Given the description of an element on the screen output the (x, y) to click on. 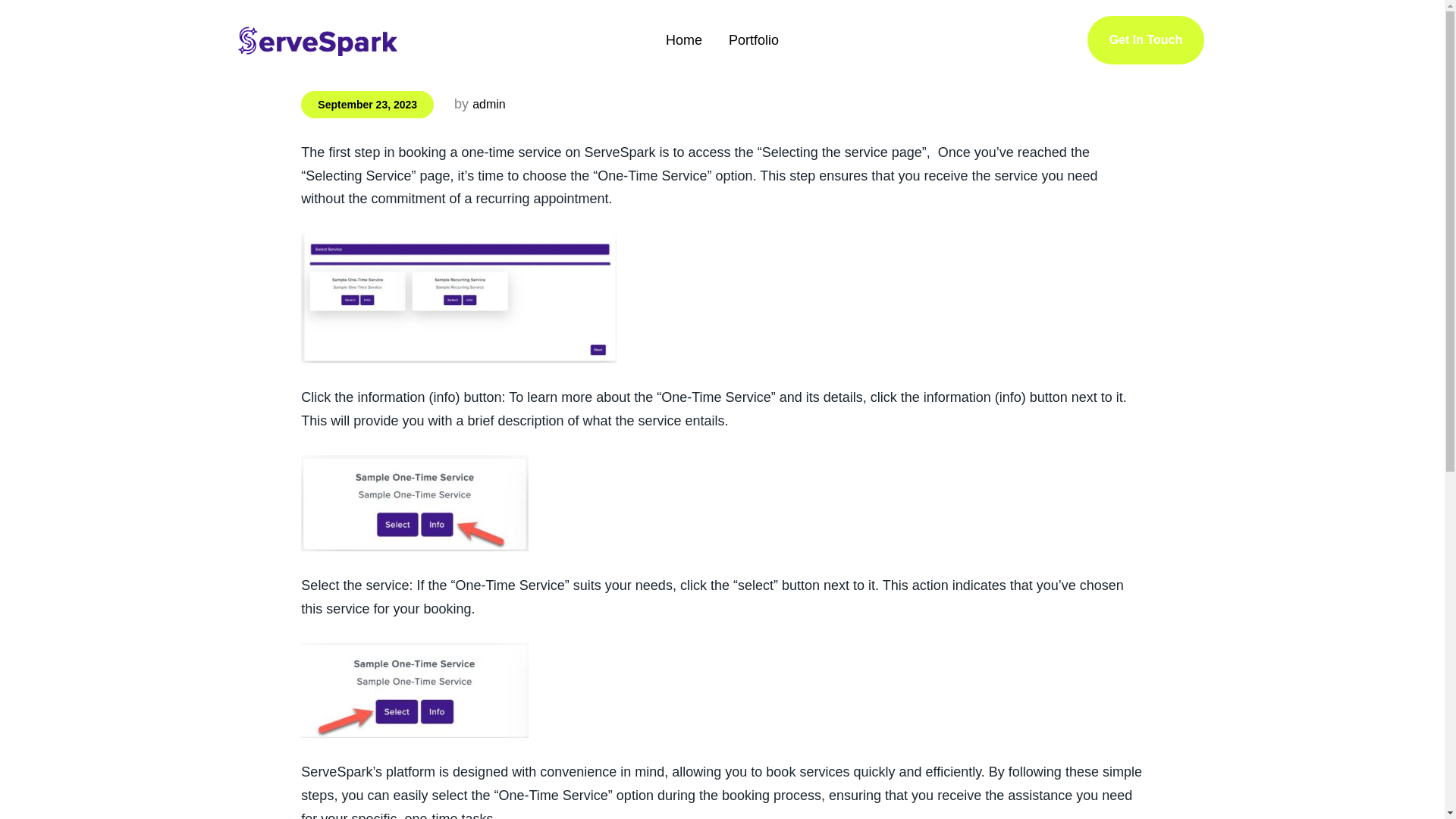
Home (683, 39)
admin (488, 103)
Portfolio (753, 39)
Get In Touch (1145, 40)
